Given the description of an element on the screen output the (x, y) to click on. 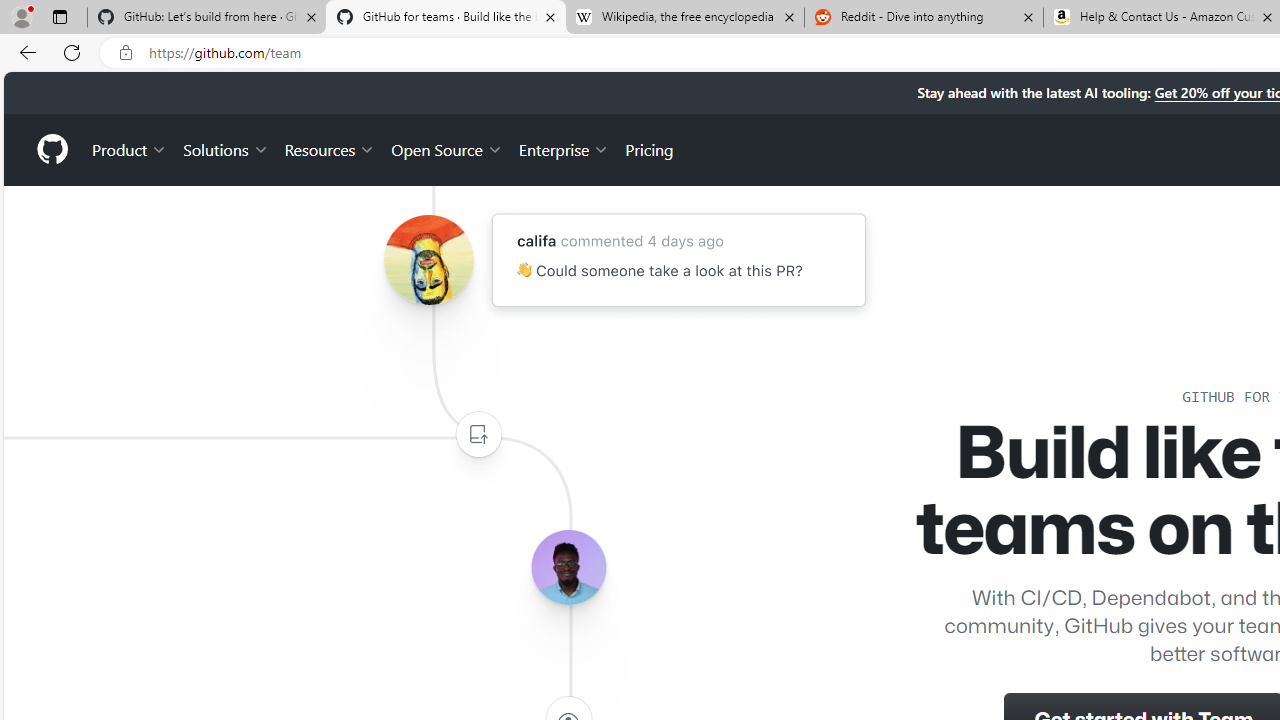
Avatar of the user lerebear (568, 567)
Reddit - Dive into anything (924, 17)
Pricing (649, 148)
Class: color-fg-muted width-full (478, 434)
Product (130, 148)
Pricing (649, 148)
Solutions (225, 148)
Enterprise (563, 148)
Resources (330, 148)
